Given the description of an element on the screen output the (x, y) to click on. 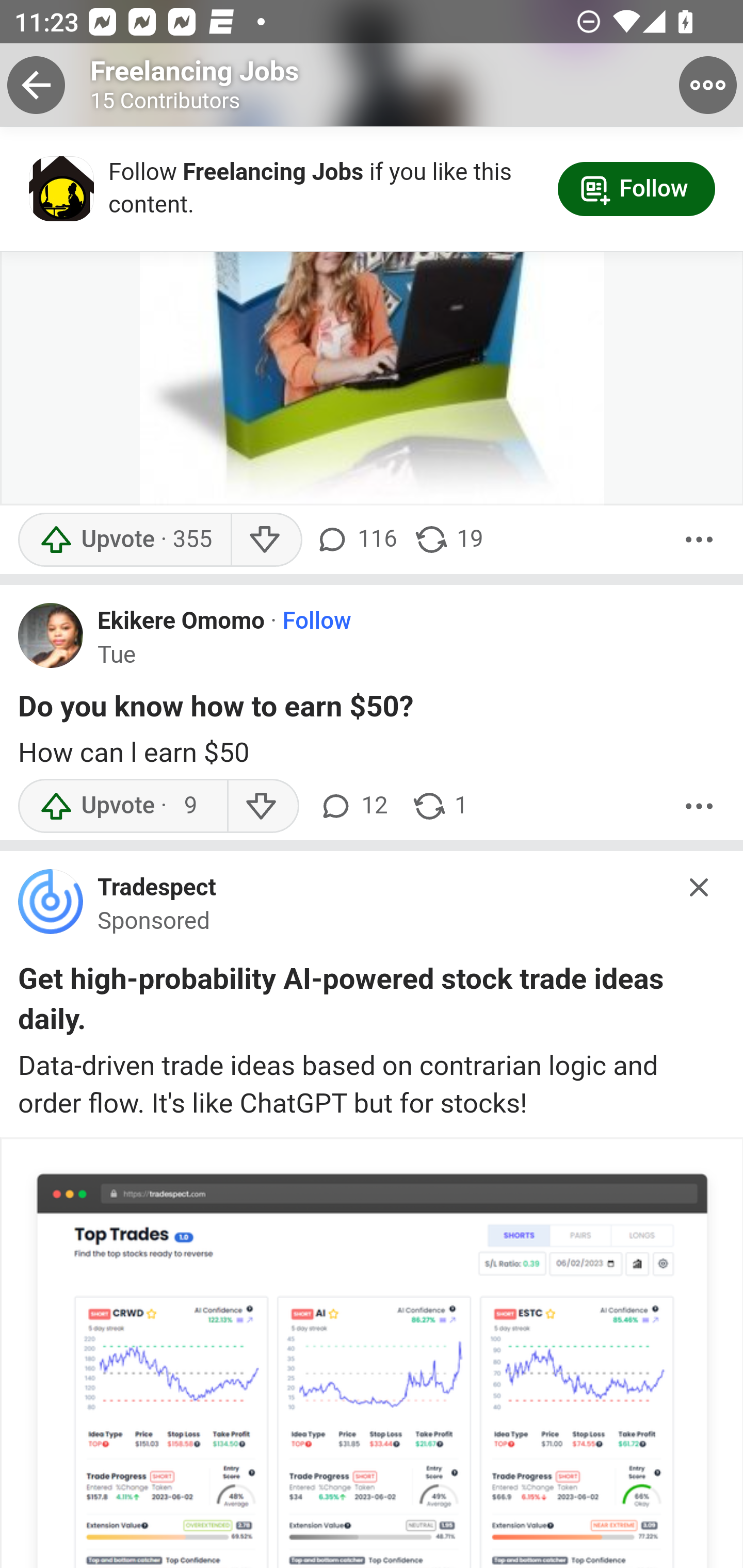
Upvote (124, 539)
Downvote (266, 539)
116 comments (358, 539)
19 shares (447, 539)
More (699, 539)
Profile photo for Ekikere Omomo (50, 636)
Ekikere Omomo (181, 623)
Follow (316, 623)
How can l earn $50 (372, 753)
Upvote (122, 807)
Downvote (262, 807)
12 comments (352, 807)
1 share (439, 807)
More (699, 807)
Hide (699, 887)
main-qimg-8999dc0e311b8271df164a63541a9fb0 (50, 908)
Tradespect (156, 889)
Sponsored (154, 923)
